Given the description of an element on the screen output the (x, y) to click on. 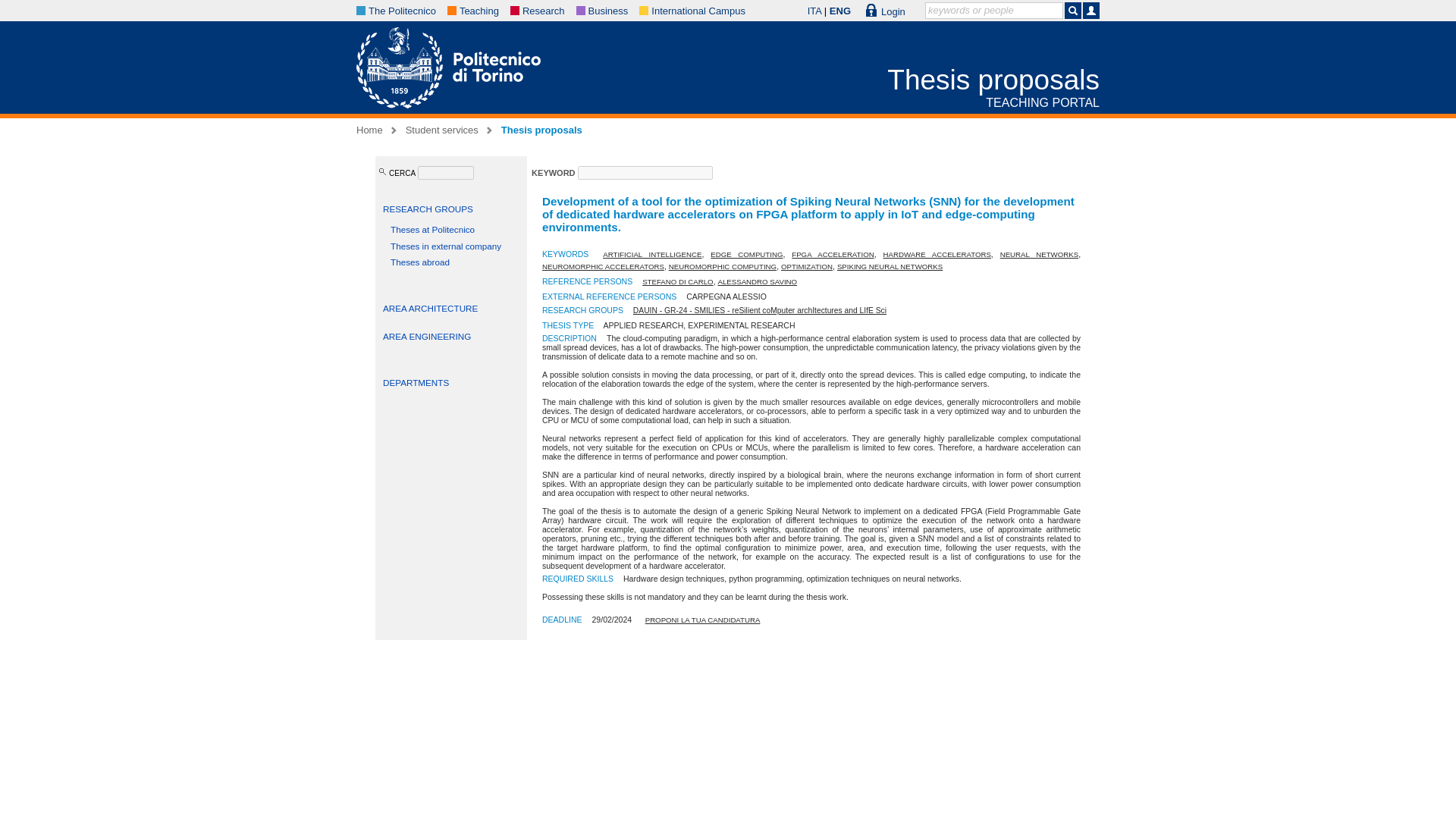
Theses abroad (419, 261)
FPGA ACCELERATION (832, 254)
Theses in external company (445, 245)
SPIKING NEURAL NETWORKS (889, 266)
Research (543, 10)
NEURAL NETWORKS (1039, 254)
International Campus (697, 10)
OPTIMIZATION (806, 266)
ARTIFICIAL INTELLIGENCE (651, 254)
RESEARCH GROUPS (427, 208)
